Given the description of an element on the screen output the (x, y) to click on. 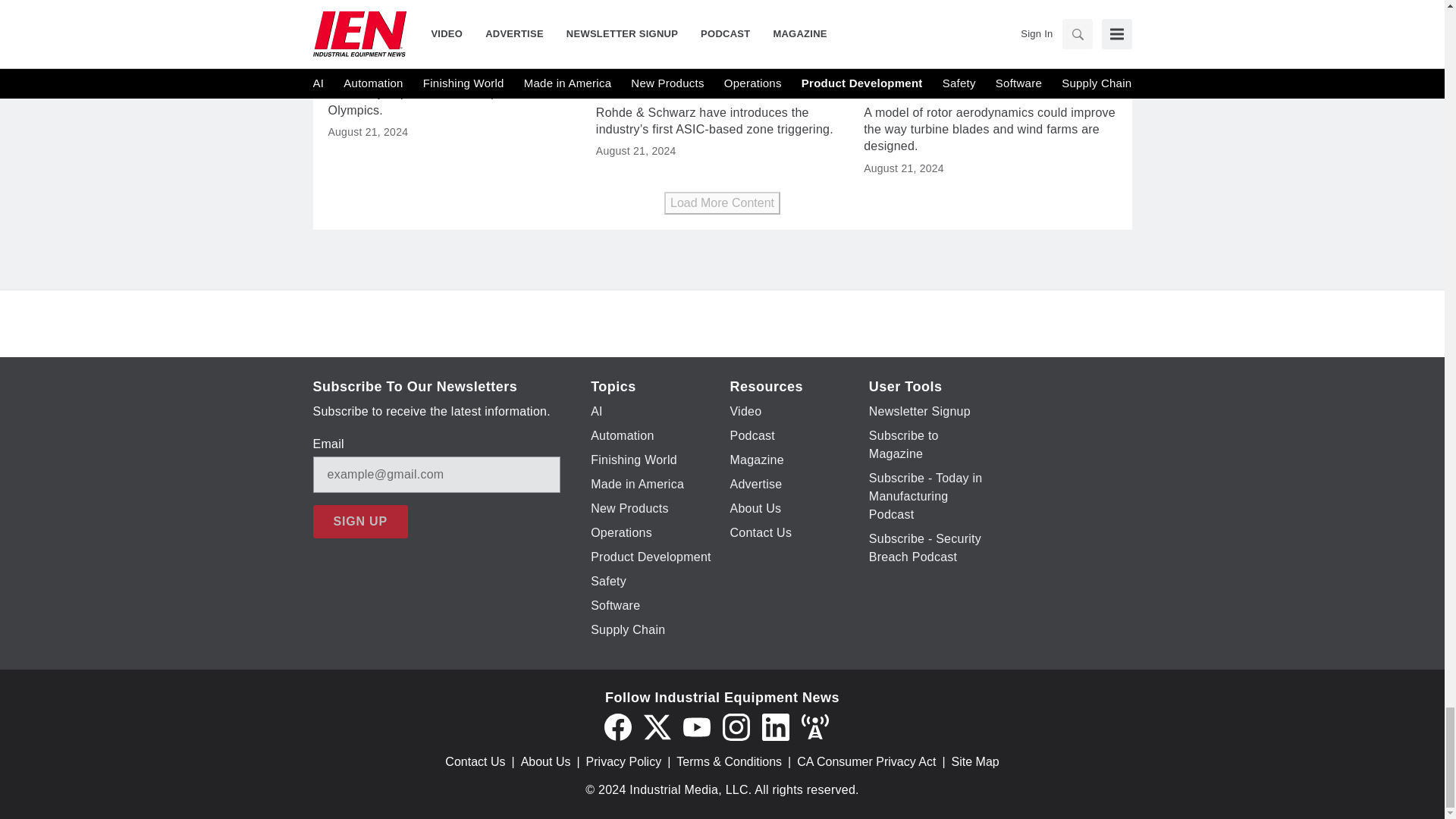
YouTube icon (696, 727)
LinkedIn icon (775, 727)
Facebook icon (617, 727)
Instagram icon (735, 727)
Twitter X icon (656, 727)
